Given the description of an element on the screen output the (x, y) to click on. 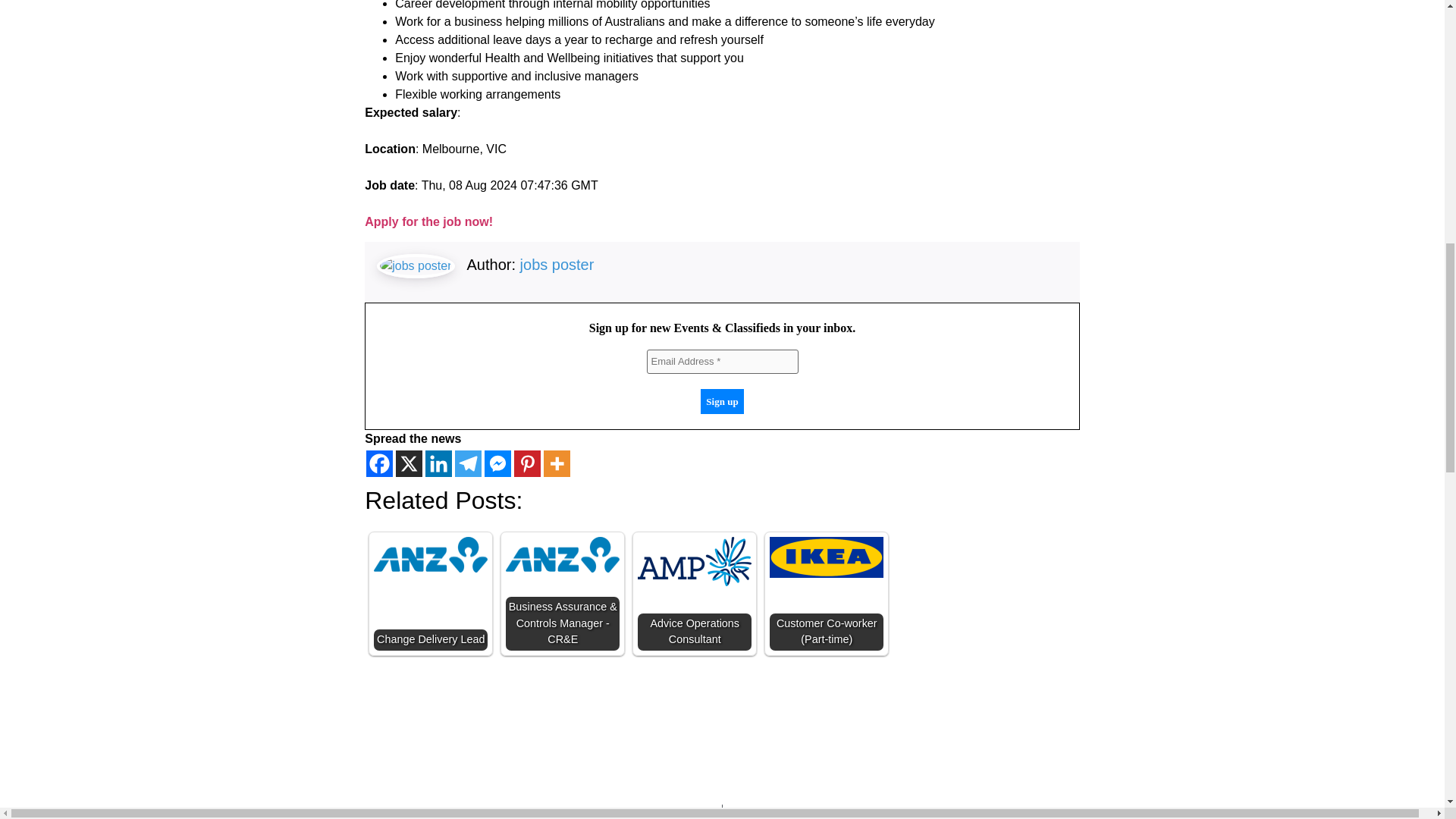
Advice Operations Consultant (694, 561)
Change Delivery Lead (430, 555)
Pinterest (526, 463)
Telegram (467, 463)
Linkedin (438, 463)
More (556, 463)
X (409, 463)
Email Address (721, 361)
Facebook (379, 463)
Sign up (721, 401)
